Given the description of an element on the screen output the (x, y) to click on. 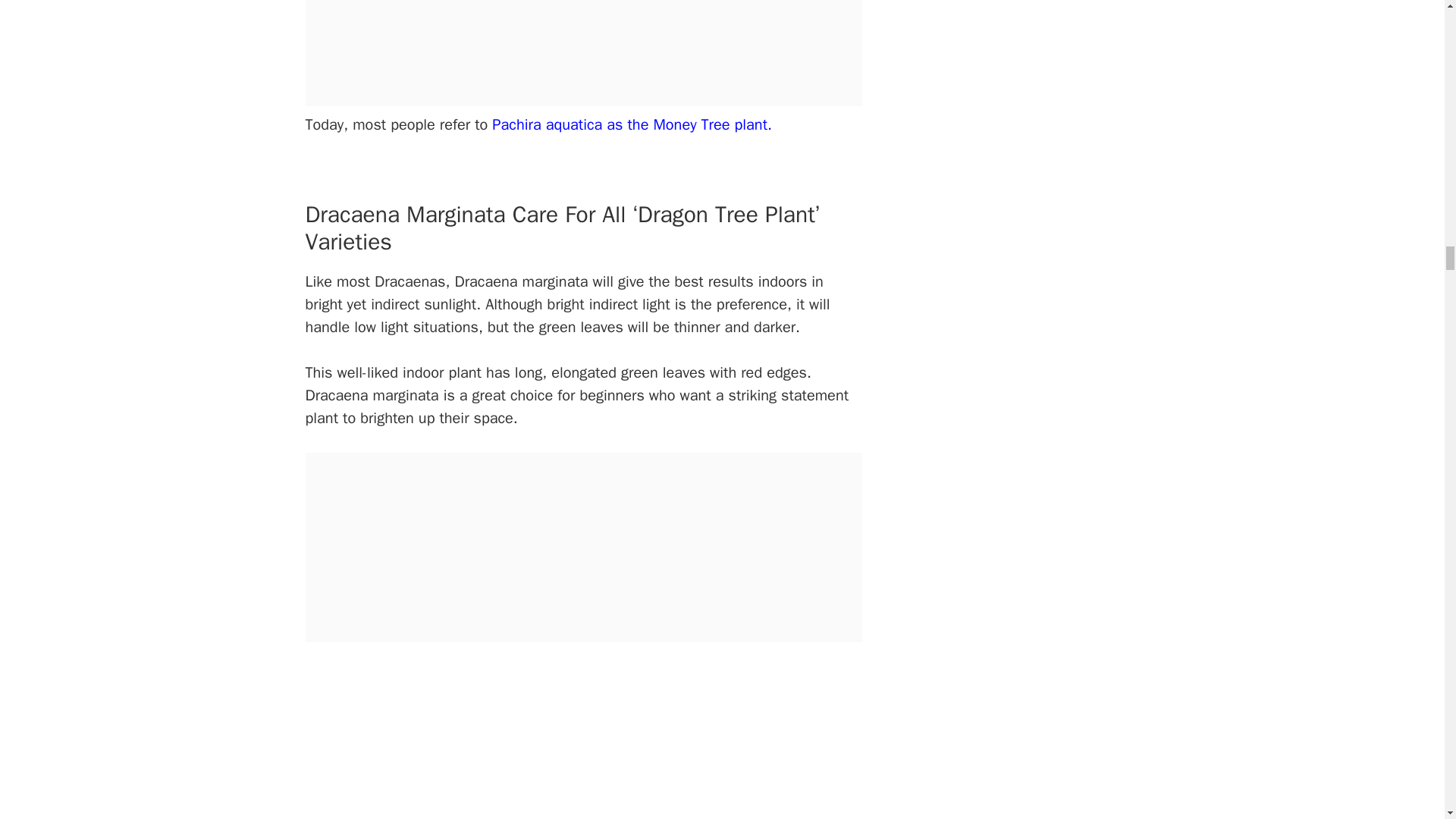
Pachira aquatica as the Money Tree plant. (631, 124)
